Given the description of an element on the screen output the (x, y) to click on. 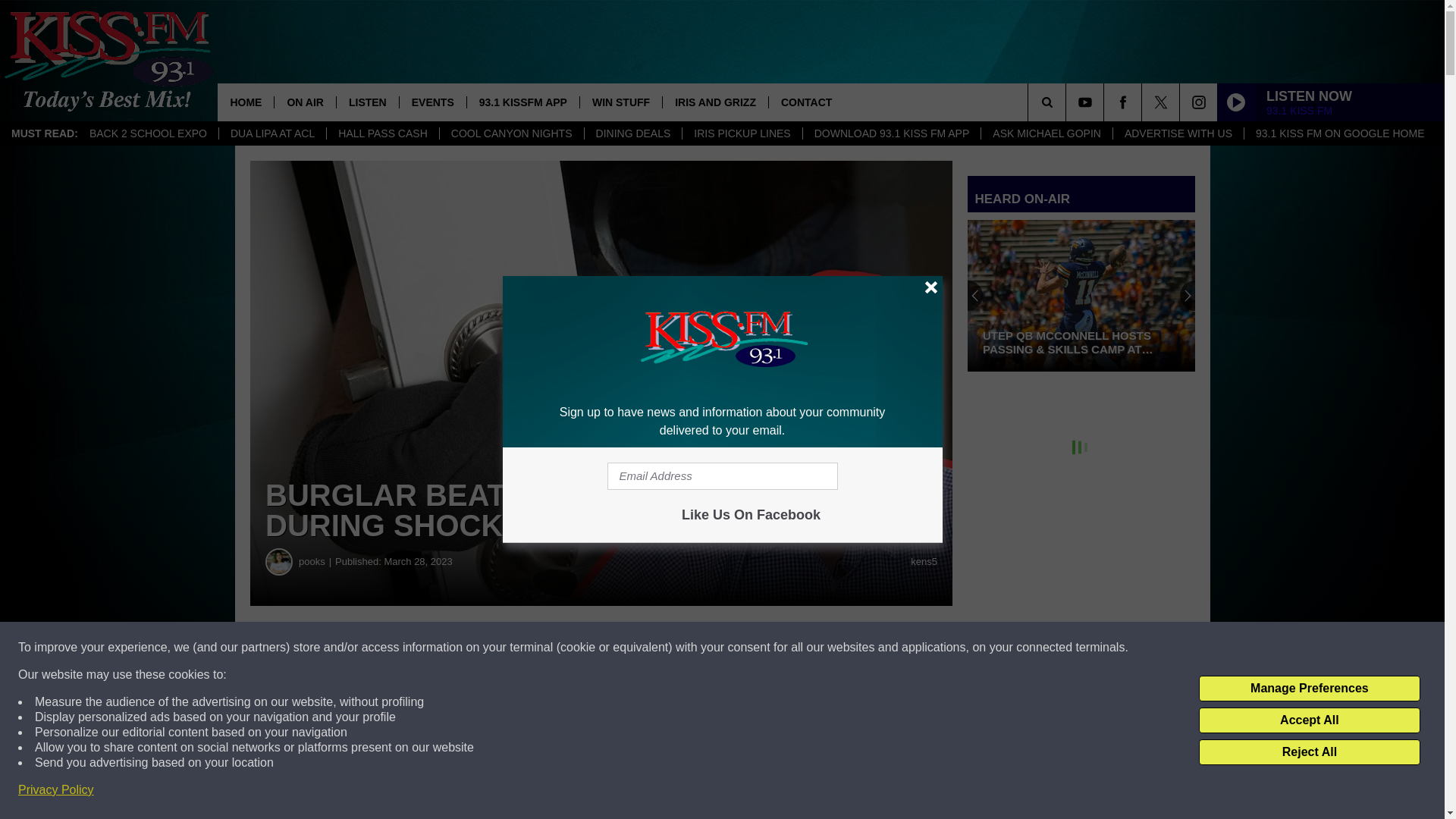
ON AIR (303, 102)
Share on Twitter (741, 647)
DINING DEALS (632, 133)
Privacy Policy (55, 789)
HALL PASS CASH (382, 133)
HOME (244, 102)
DUA LIPA AT ACL (272, 133)
LISTEN (367, 102)
COOL CANYON NIGHTS (511, 133)
EVENTS (431, 102)
ADVERTISE WITH US (1177, 133)
Share on Facebook (460, 647)
Manage Preferences (1309, 688)
Email Address (722, 475)
SEARCH (1068, 102)
